Given the description of an element on the screen output the (x, y) to click on. 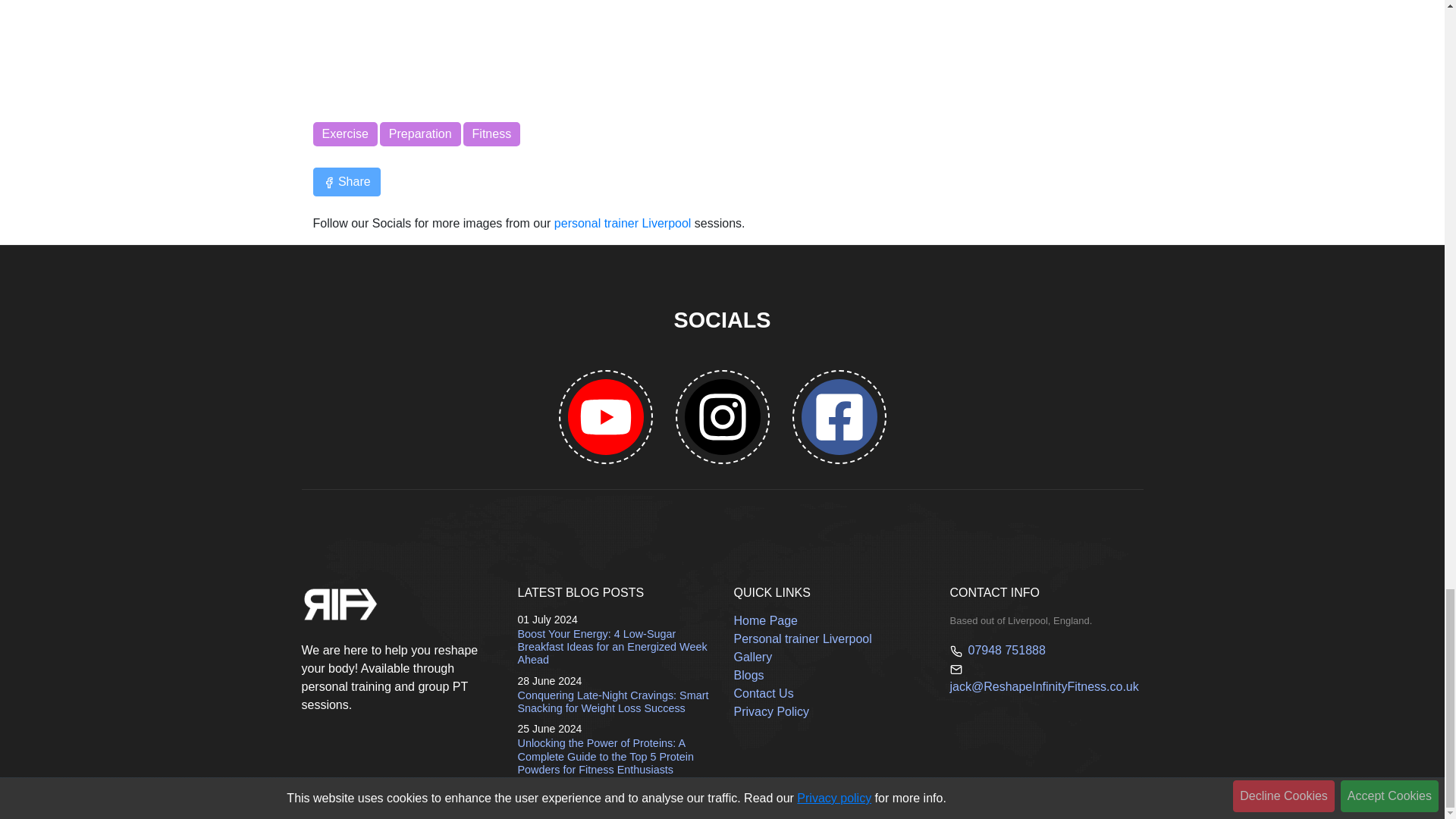
Share (346, 180)
Preparation (420, 134)
Share (346, 181)
Exercise (345, 134)
Fitness (492, 134)
